Given the description of an element on the screen output the (x, y) to click on. 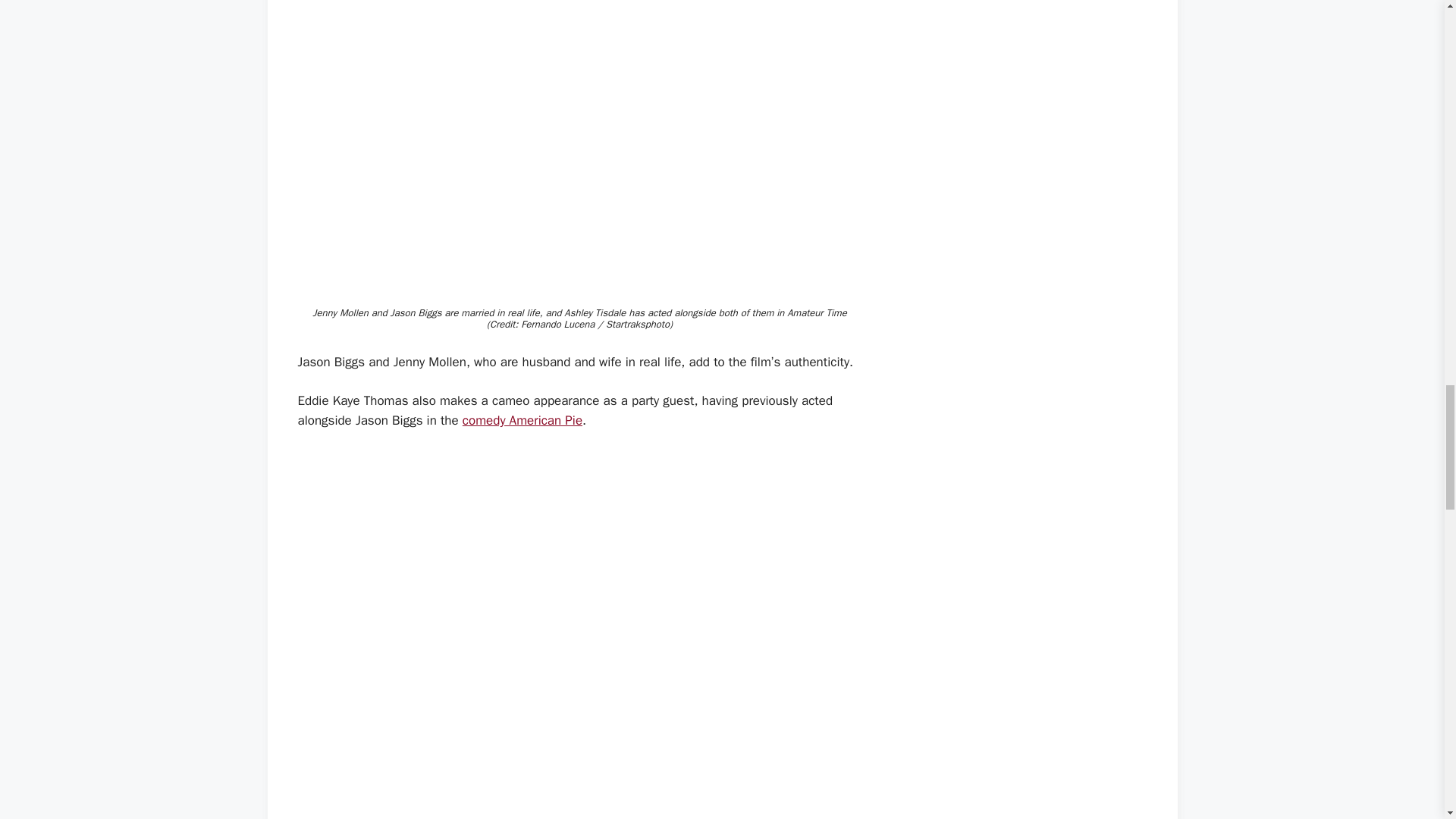
comedy American Pie (522, 420)
